Given the description of an element on the screen output the (x, y) to click on. 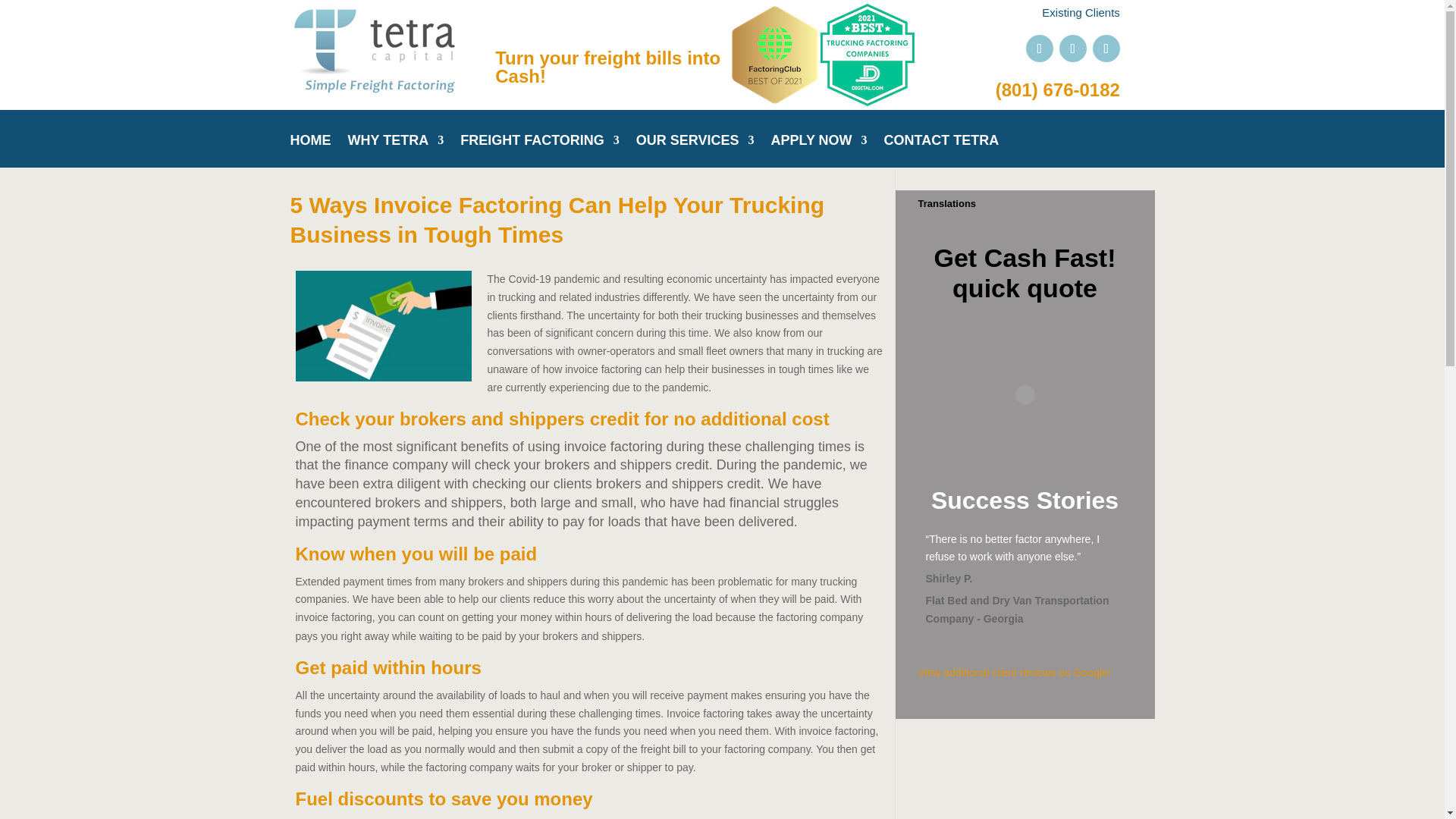
Follow on Facebook (1039, 48)
Existing Clients (1080, 11)
English (928, 222)
Follow on X (1072, 48)
View additional client reviews on Google! (1024, 673)
HOME (309, 151)
CONTACT TETRA (940, 151)
APPLY NOW (819, 151)
FREIGHT FACTORING (540, 151)
OUR SERVICES (695, 151)
Follow on LinkedIn (1106, 48)
WHY TETRA (395, 151)
